Given the description of an element on the screen output the (x, y) to click on. 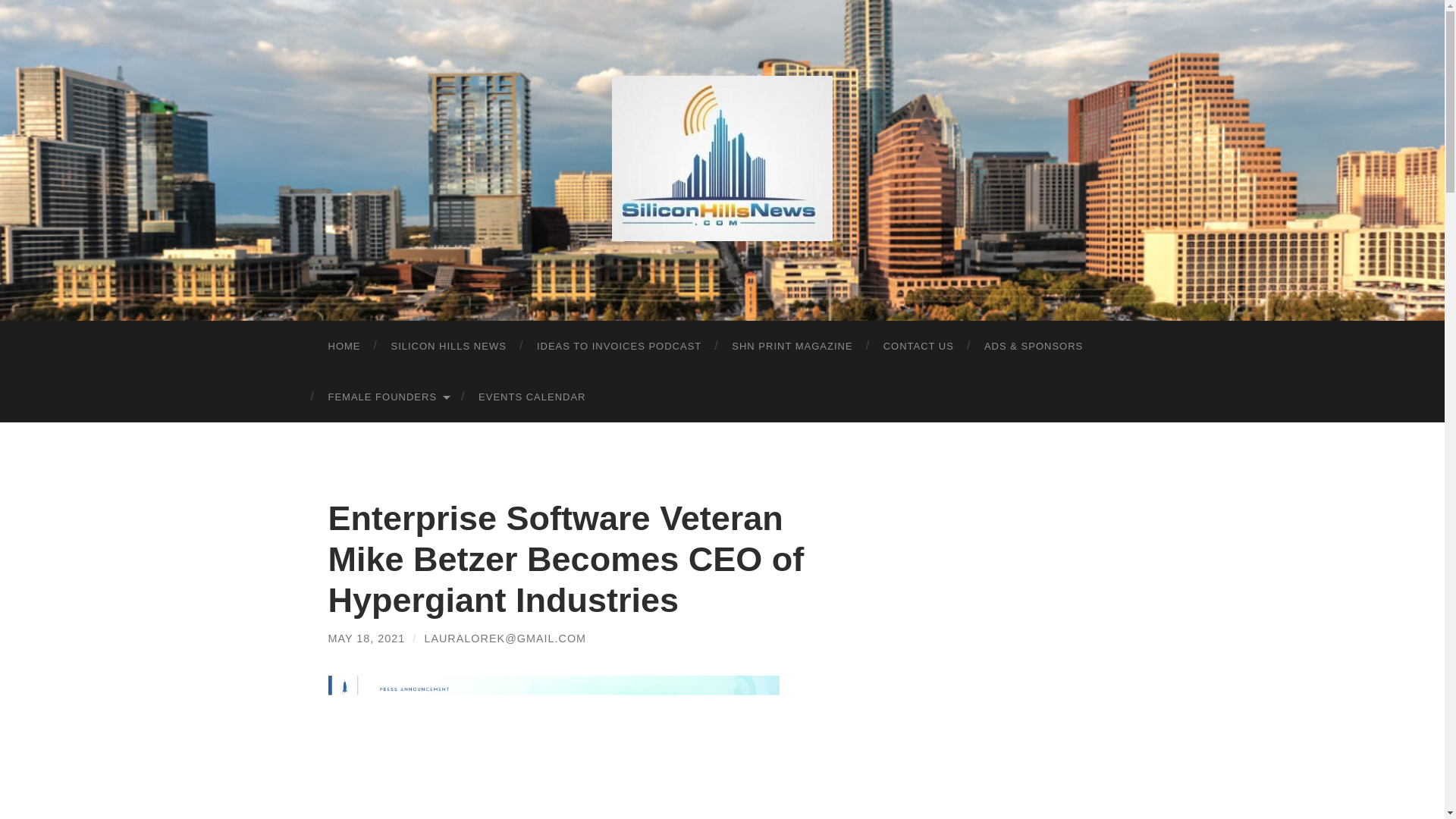
IDEAS TO INVOICES PODCAST (618, 346)
SHN PRINT MAGAZINE (791, 346)
CONTACT US (918, 346)
EVENTS CALENDAR (531, 396)
HOME (344, 346)
FEMALE FOUNDERS (388, 396)
MAY 18, 2021 (365, 638)
SiliconHills (721, 158)
SILICON HILLS NEWS (448, 346)
